Given the description of an element on the screen output the (x, y) to click on. 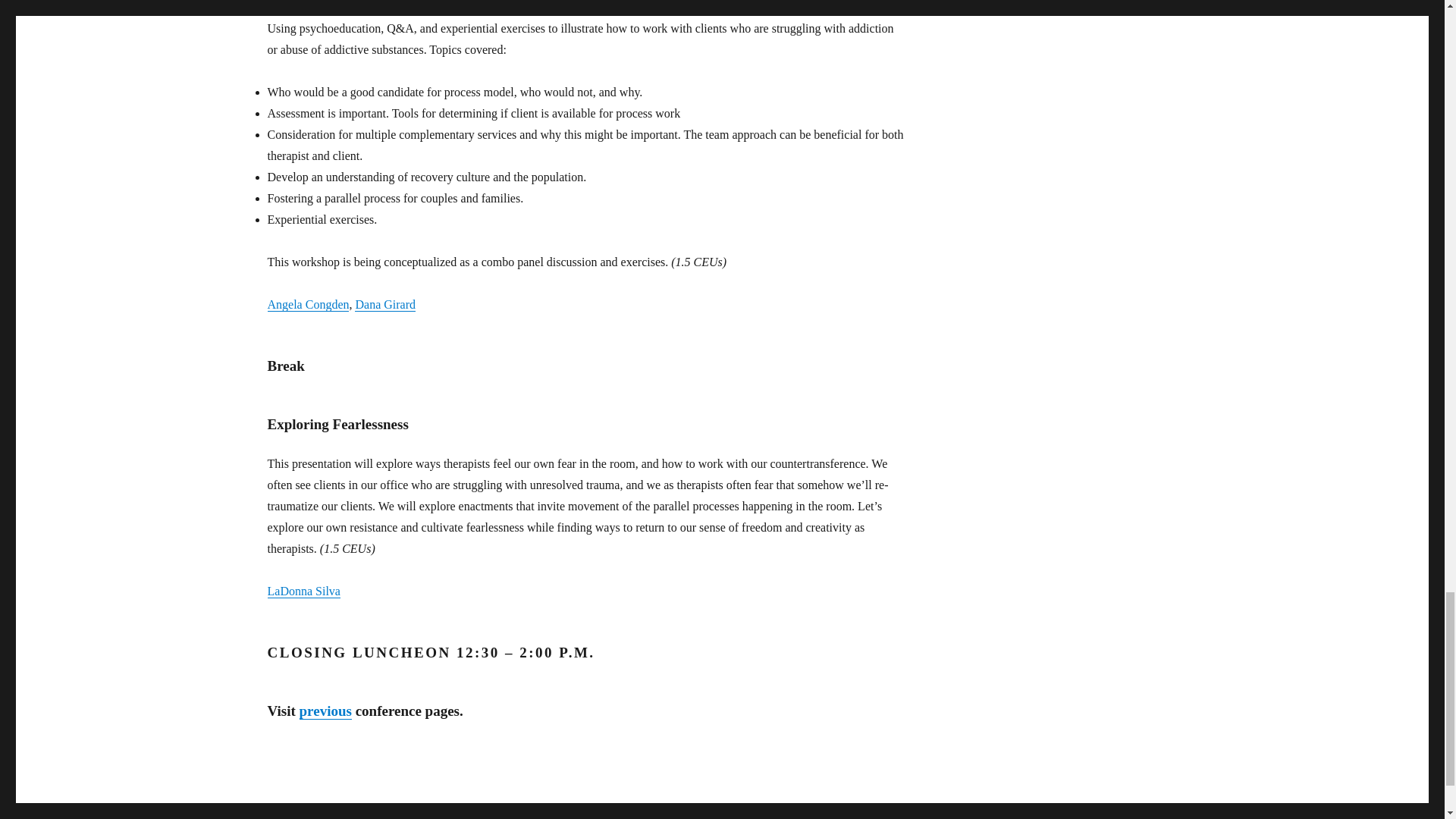
Dana Girard (384, 304)
previous (325, 710)
Angela Congden (307, 304)
LaDonna Silva (302, 590)
